Given the description of an element on the screen output the (x, y) to click on. 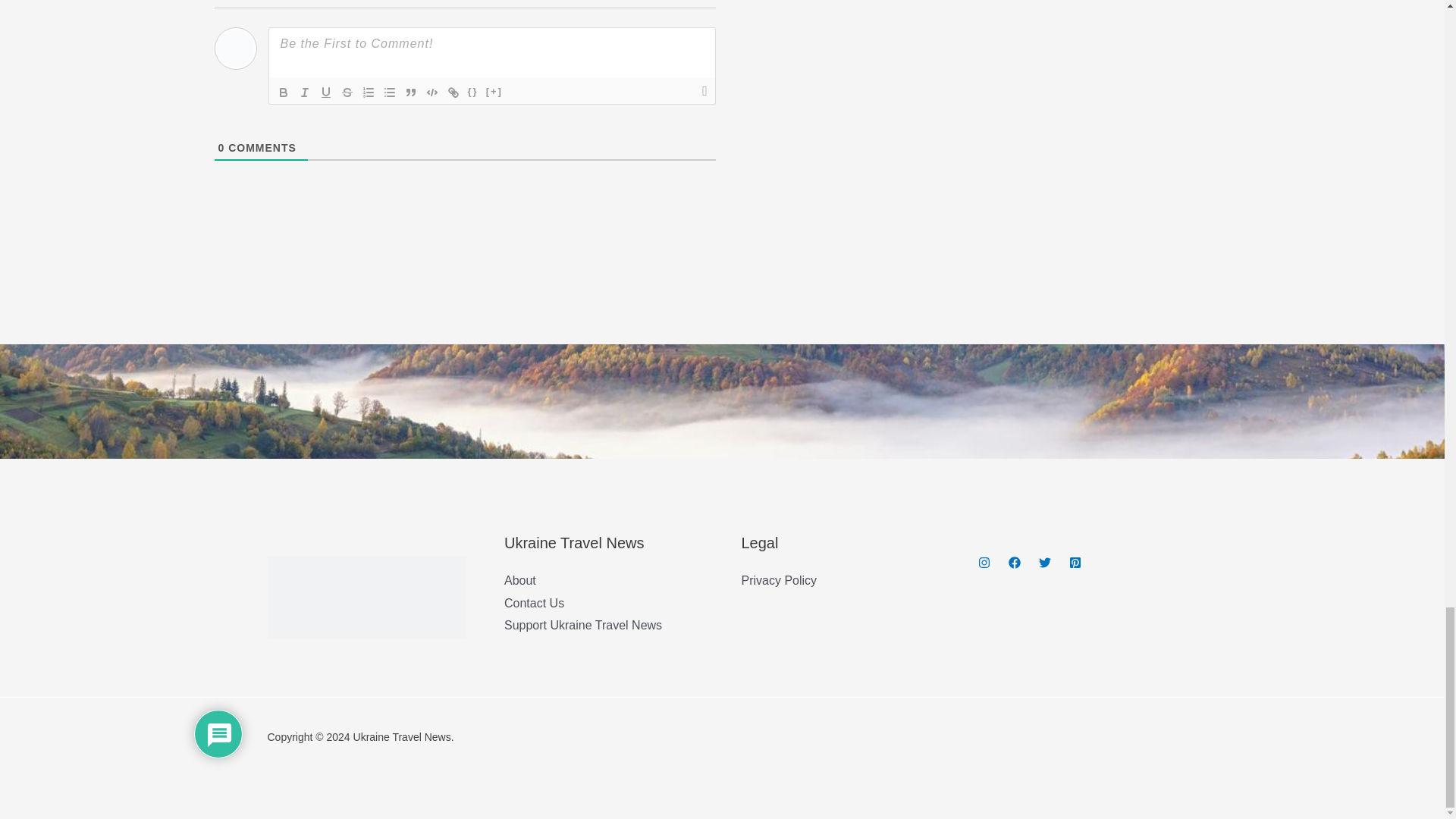
Blockquote (411, 92)
Code Block (432, 92)
Strike (347, 92)
Link (453, 92)
Unordered List (389, 92)
Ordered List (368, 92)
Bold (283, 92)
Underline (325, 92)
Italic (304, 92)
